Given the description of an element on the screen output the (x, y) to click on. 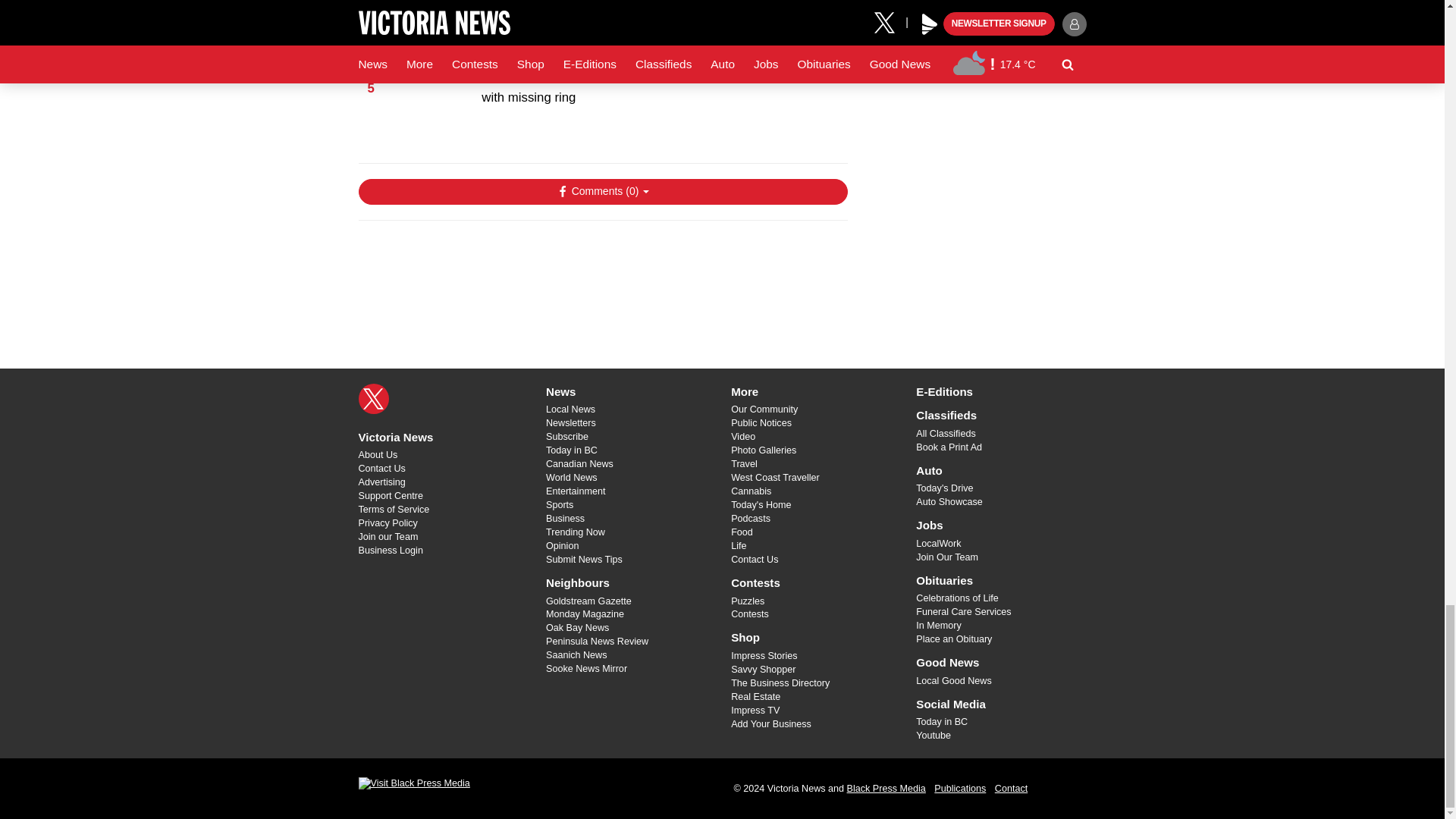
Show Comments (602, 191)
X (373, 398)
